Given the description of an element on the screen output the (x, y) to click on. 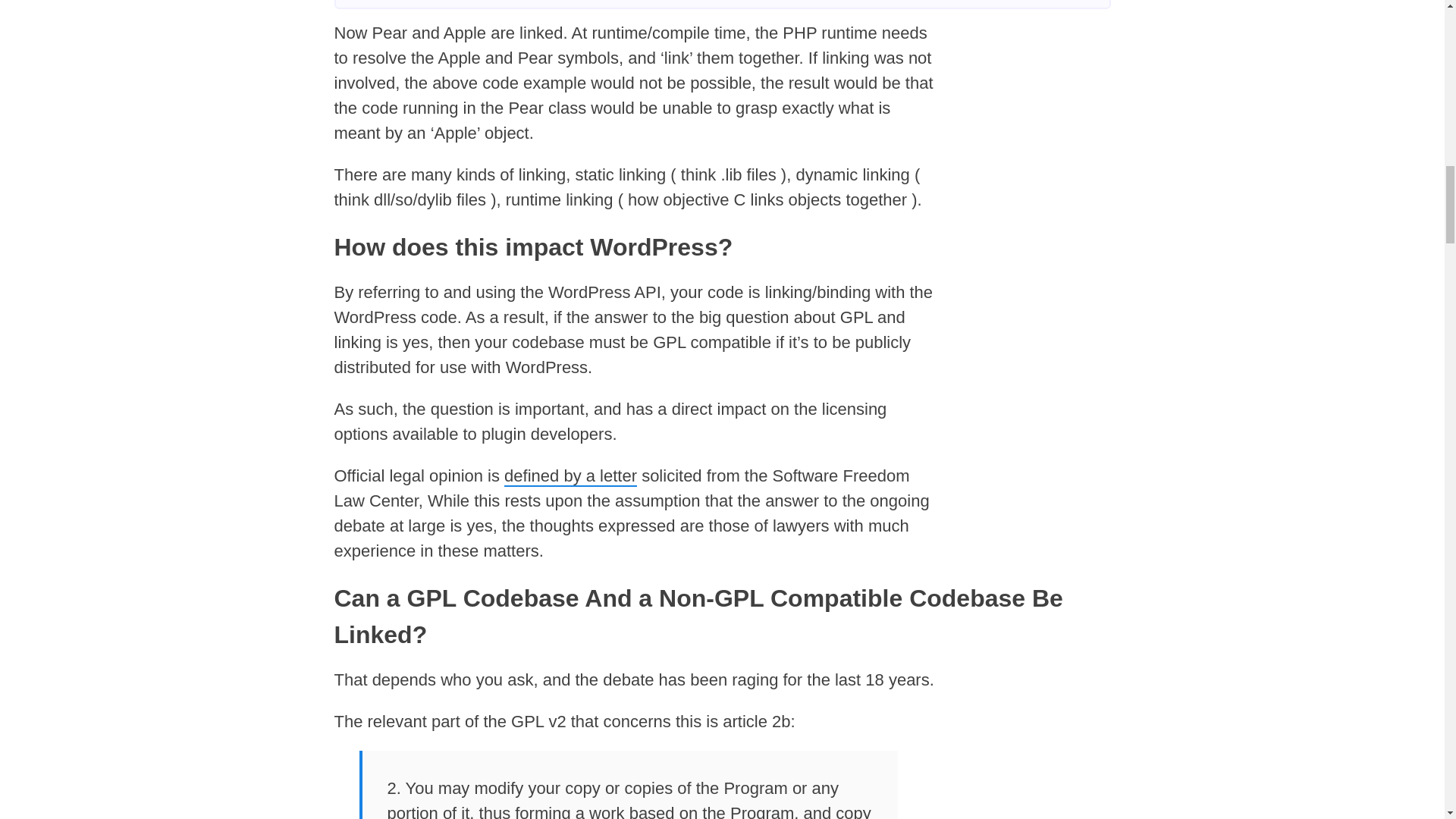
defined by a letter (570, 476)
